Given the description of an element on the screen output the (x, y) to click on. 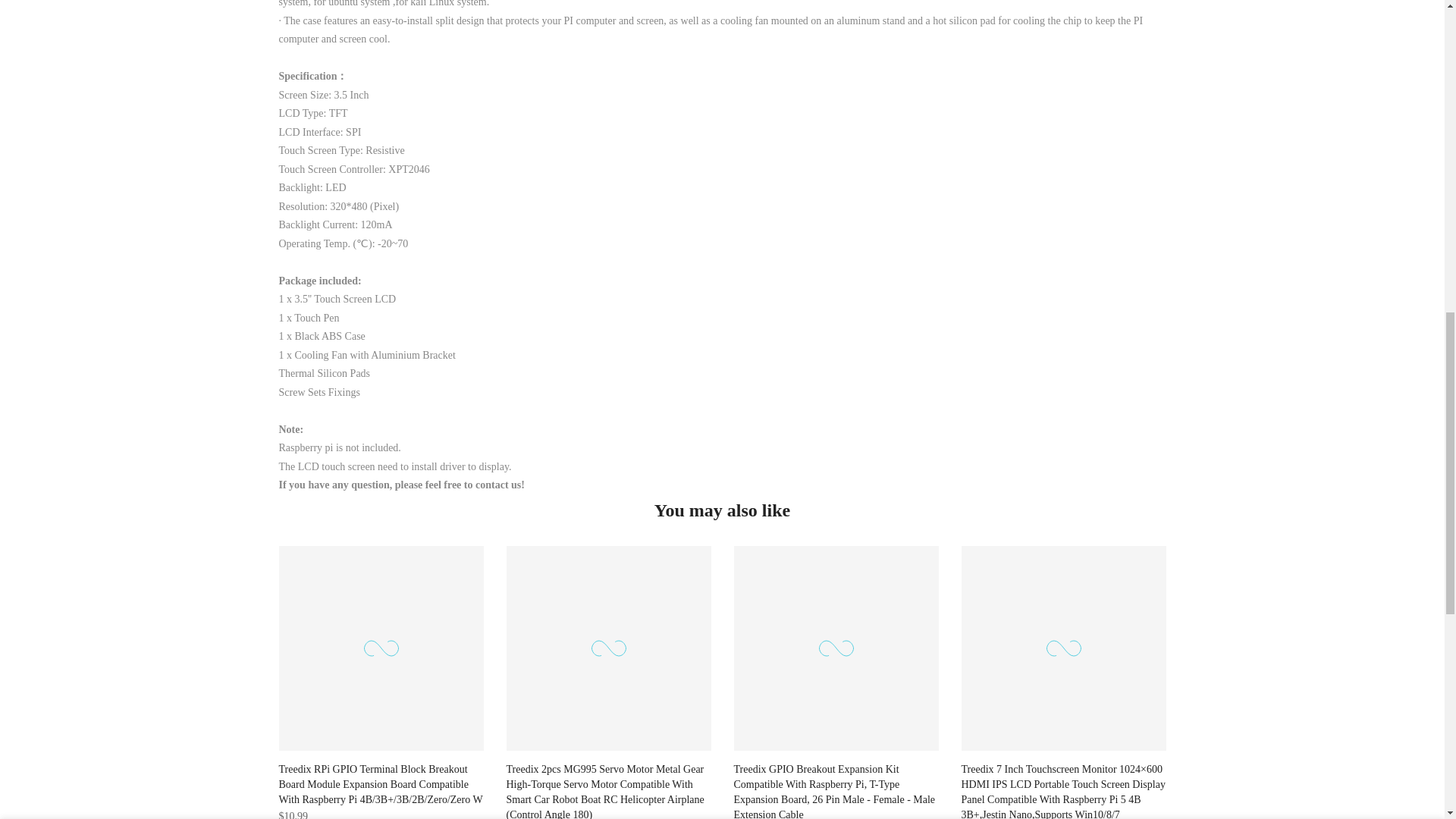
1 (1001, 35)
